Given the description of an element on the screen output the (x, y) to click on. 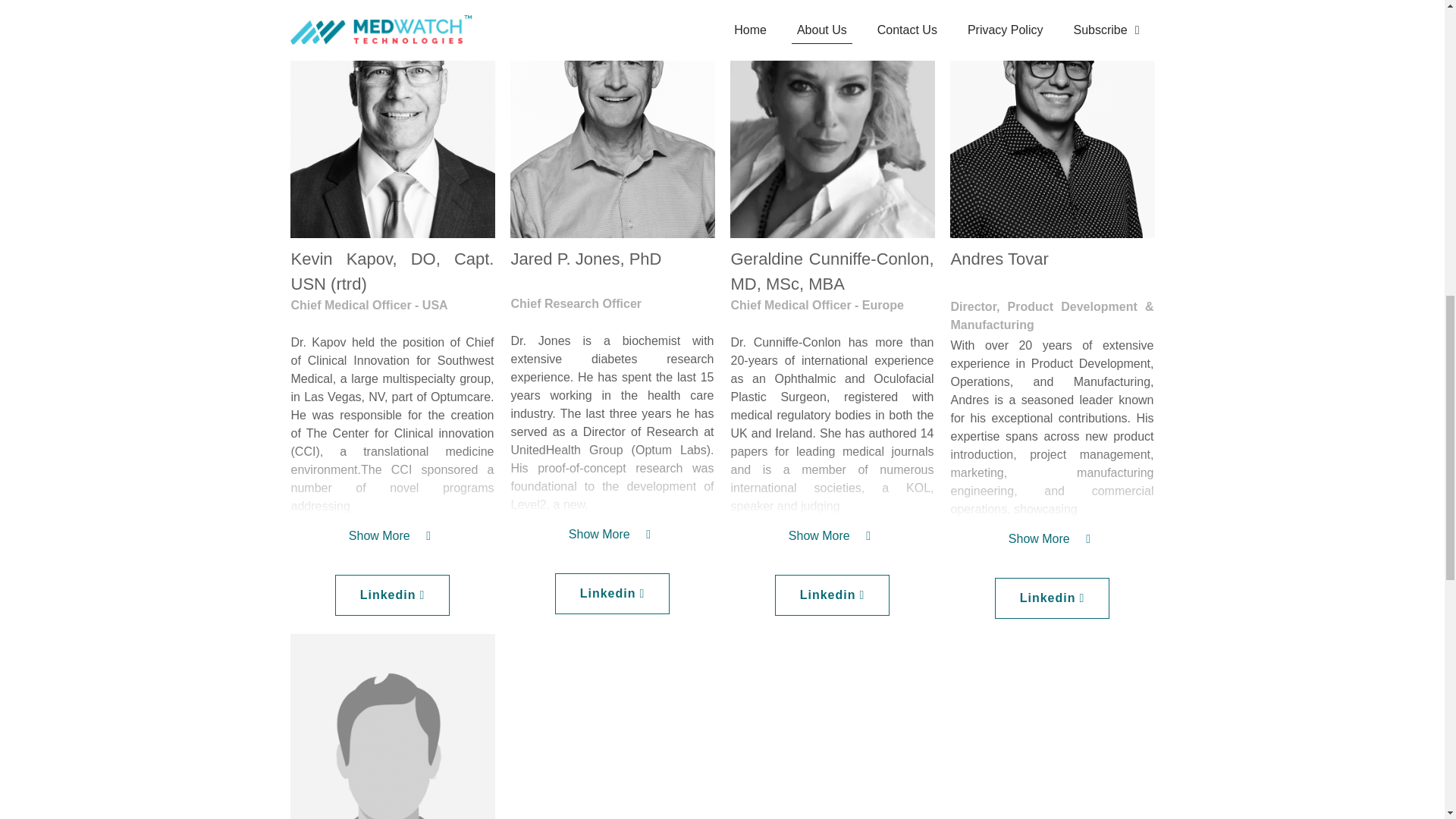
Andres Tovar (392, 726)
